Given the description of an element on the screen output the (x, y) to click on. 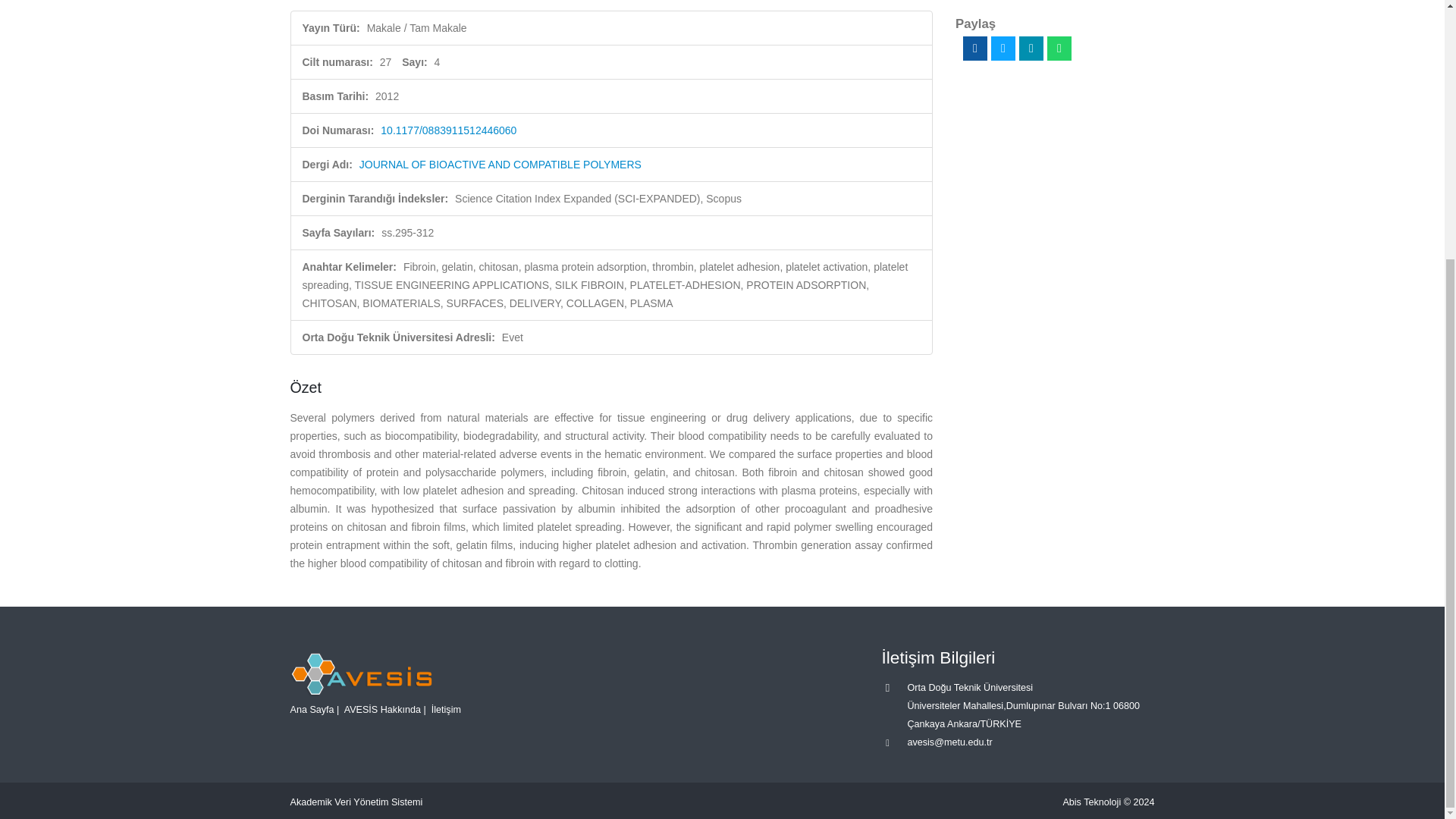
Ana Sayfa (311, 709)
JOURNAL OF BIOACTIVE AND COMPATIBLE POLYMERS (500, 164)
Abis Teknoloji (1091, 801)
